Given the description of an element on the screen output the (x, y) to click on. 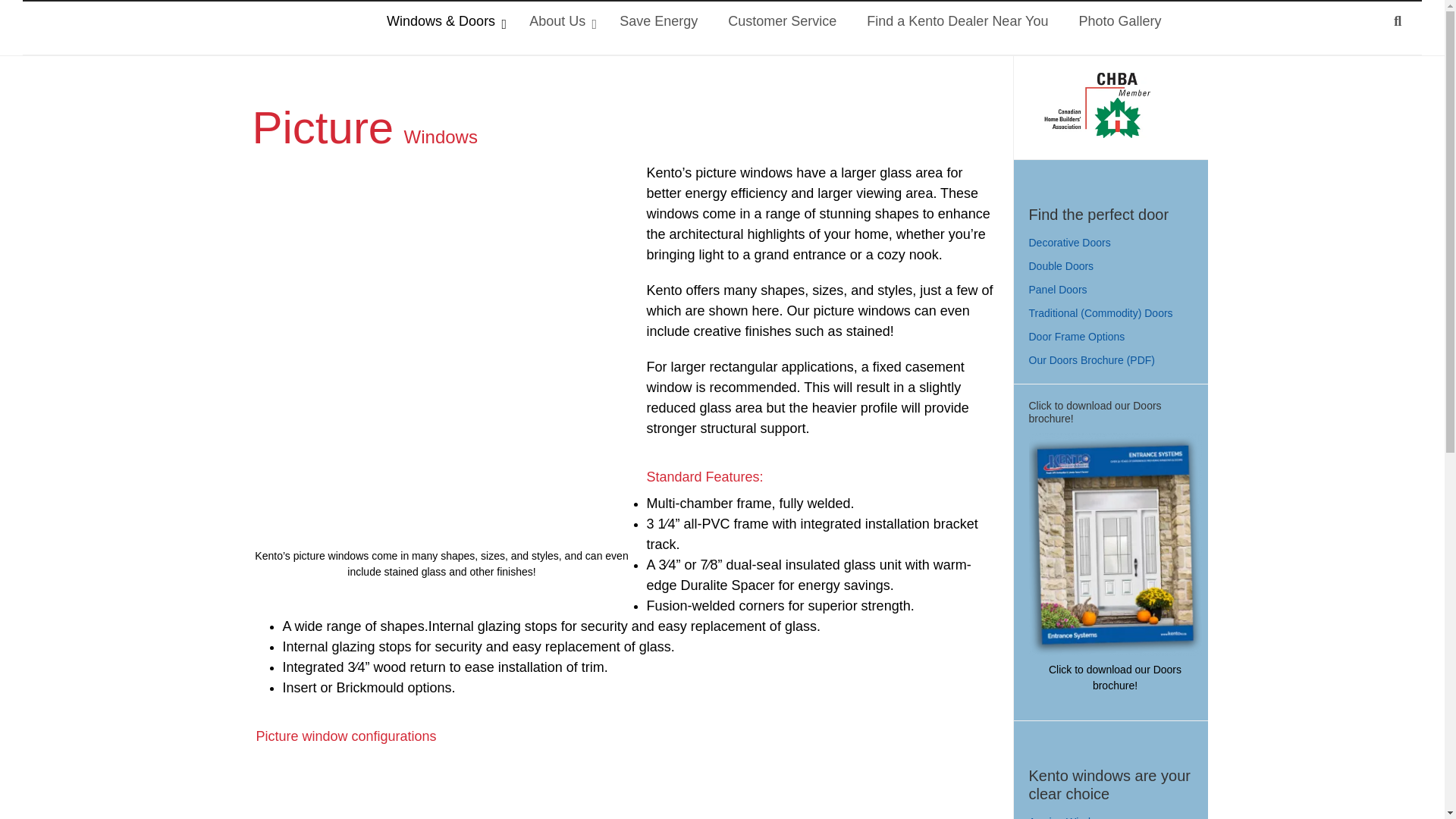
About Us (558, 21)
Save Energy (658, 21)
Photo Gallery (1119, 21)
Panel Doors (1056, 289)
Decorative Doors (1068, 242)
Double Doors (1060, 266)
Customer Service (782, 21)
KENTO WINDOWS AND DOORS (98, 26)
Find a Kento Dealer Near You (956, 21)
